Given the description of an element on the screen output the (x, y) to click on. 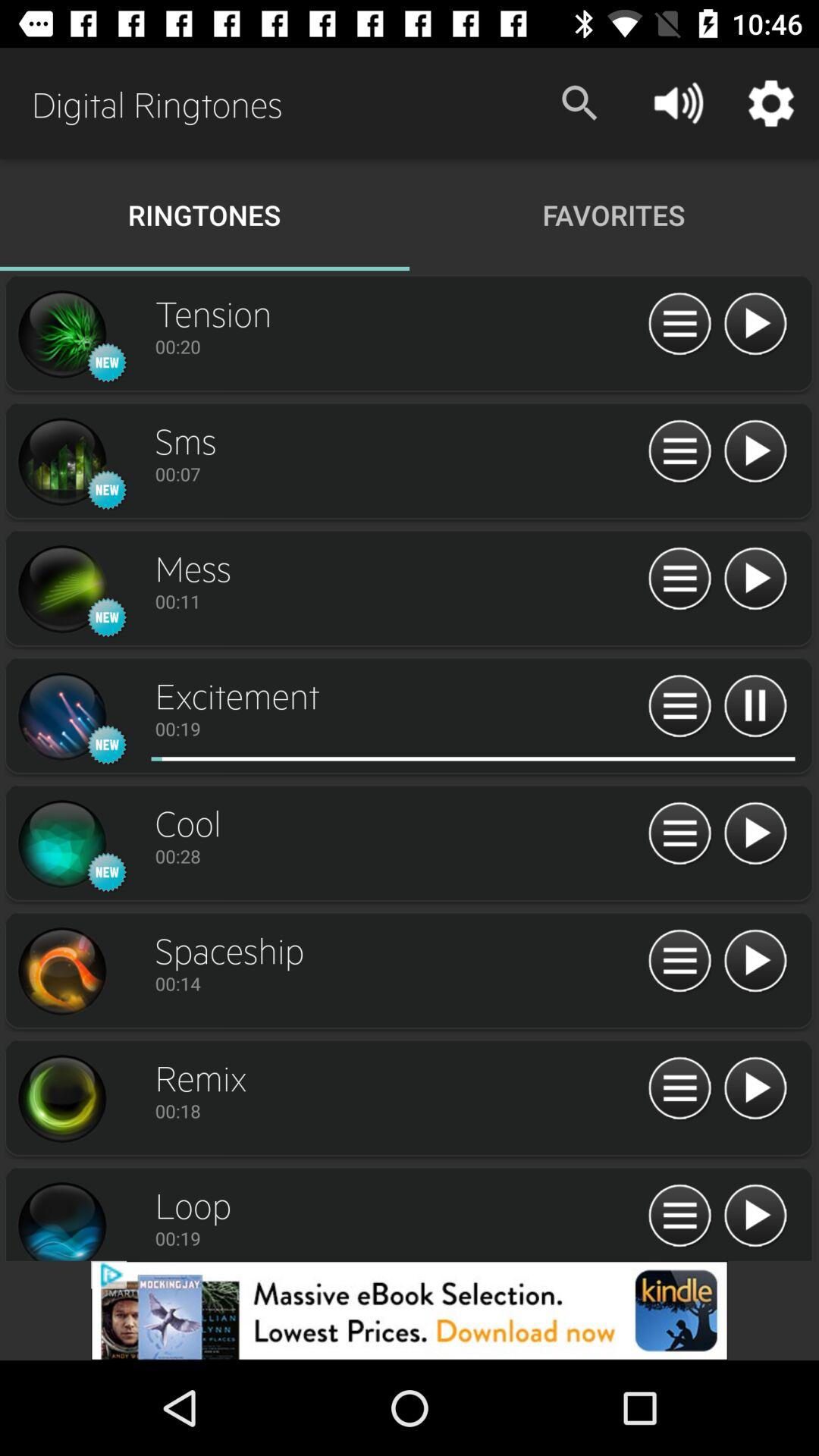
play 'mess (755, 579)
